Given the description of an element on the screen output the (x, y) to click on. 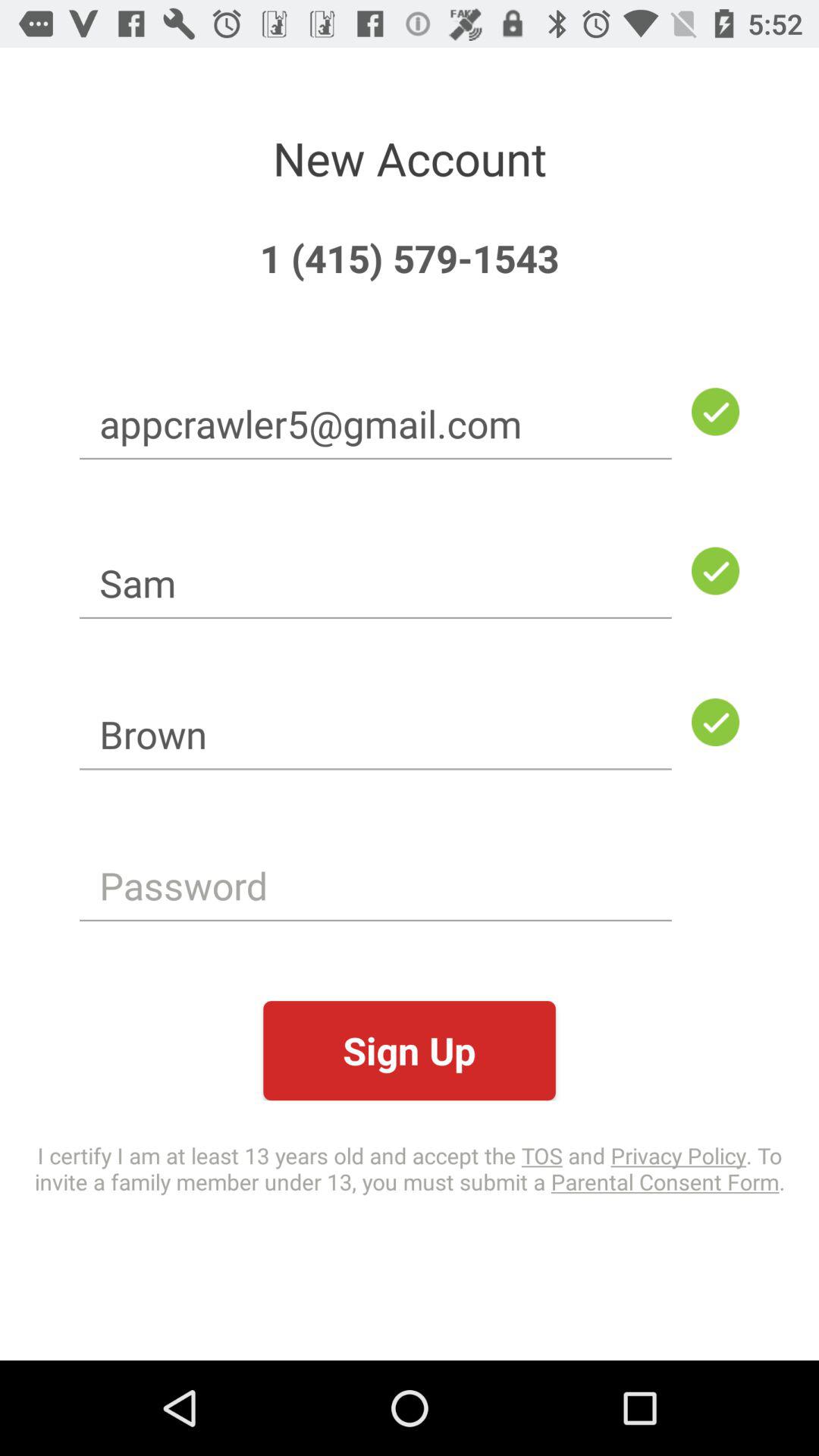
launch the appcrawler5@gmail.com icon (375, 423)
